Given the description of an element on the screen output the (x, y) to click on. 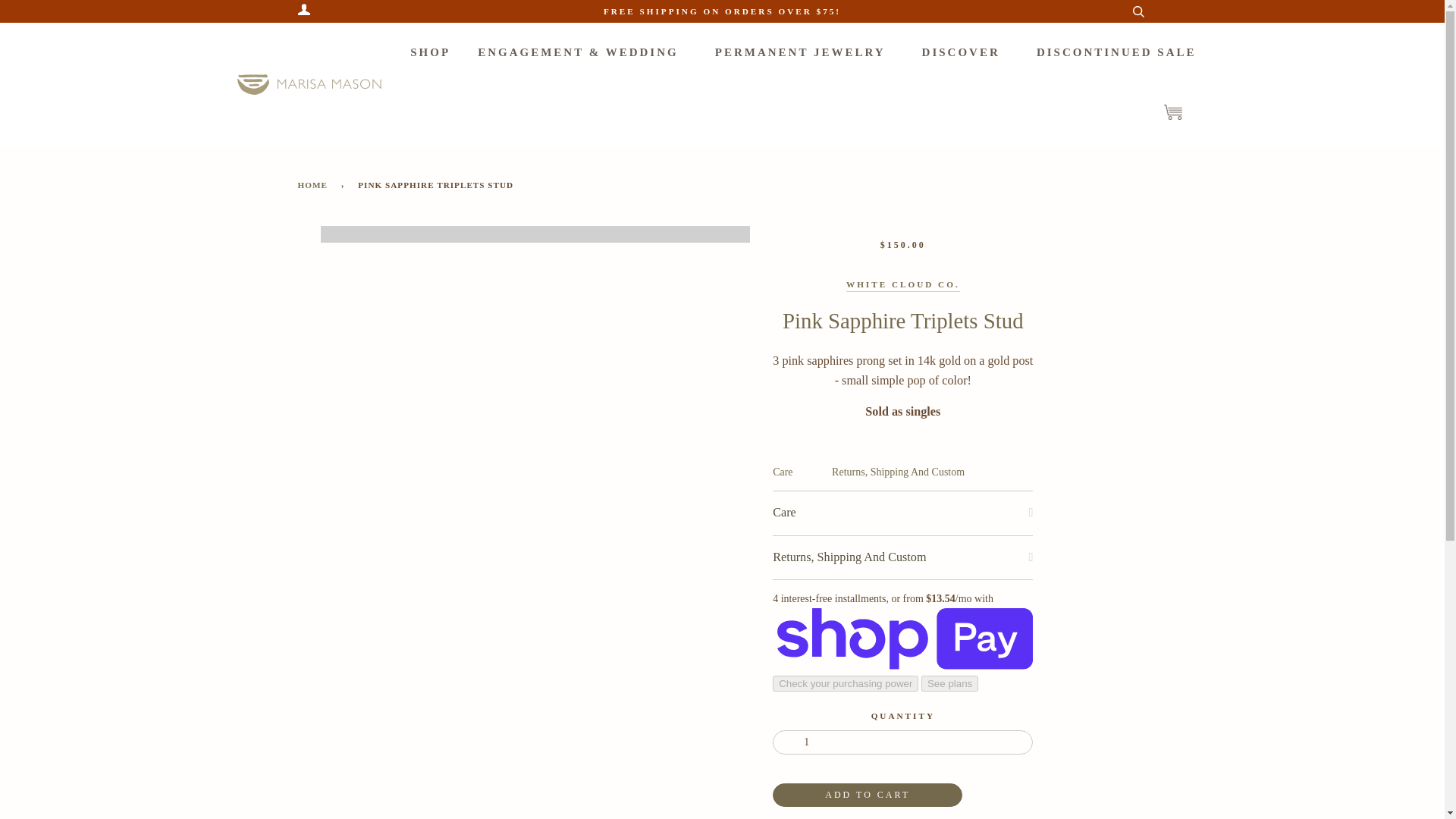
1 (902, 742)
Back to the frontpage (314, 185)
Skip to content (10, 10)
